Given the description of an element on the screen output the (x, y) to click on. 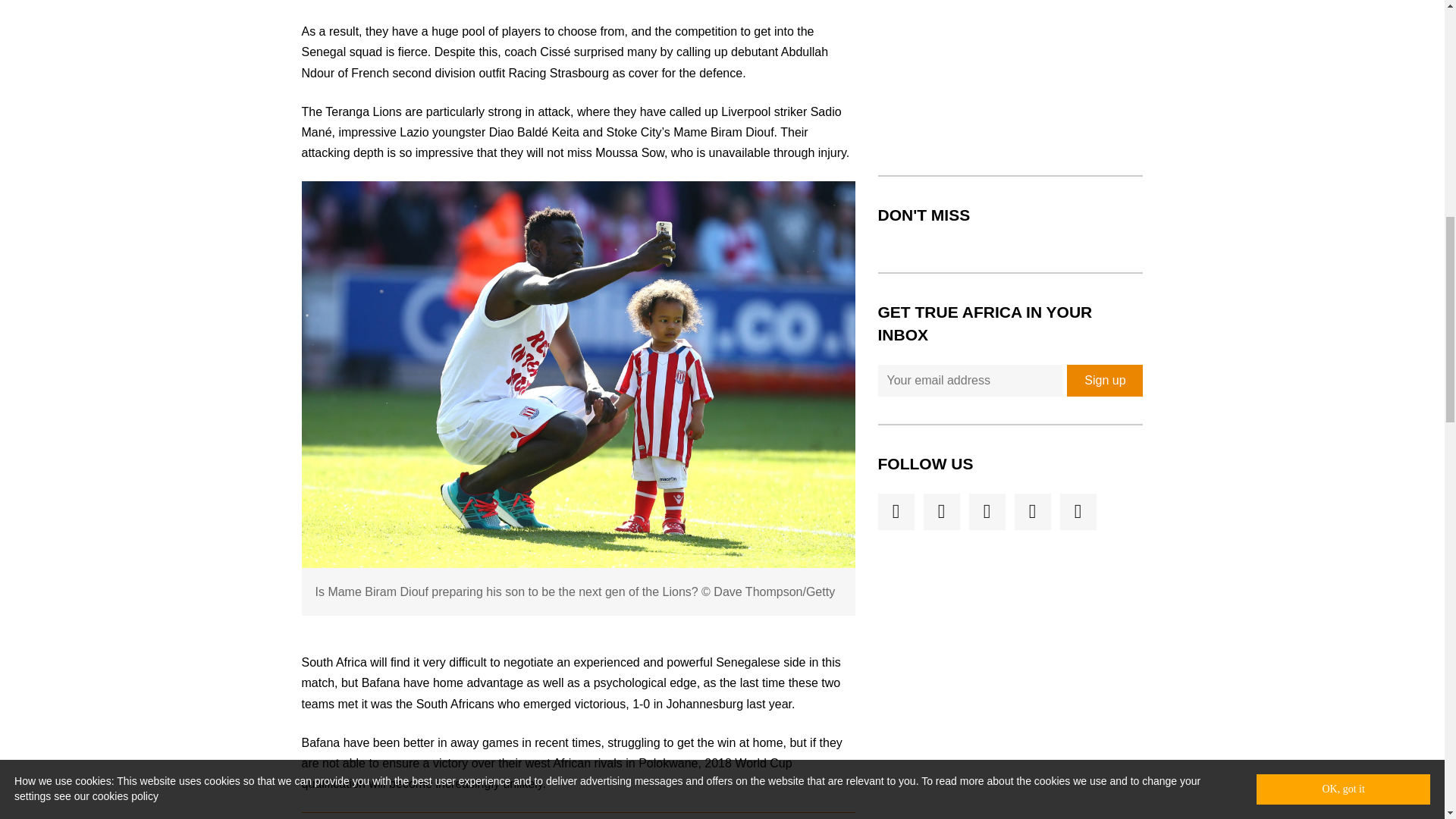
3rd party ad content (1010, 76)
Sign up (1104, 380)
